Given the description of an element on the screen output the (x, y) to click on. 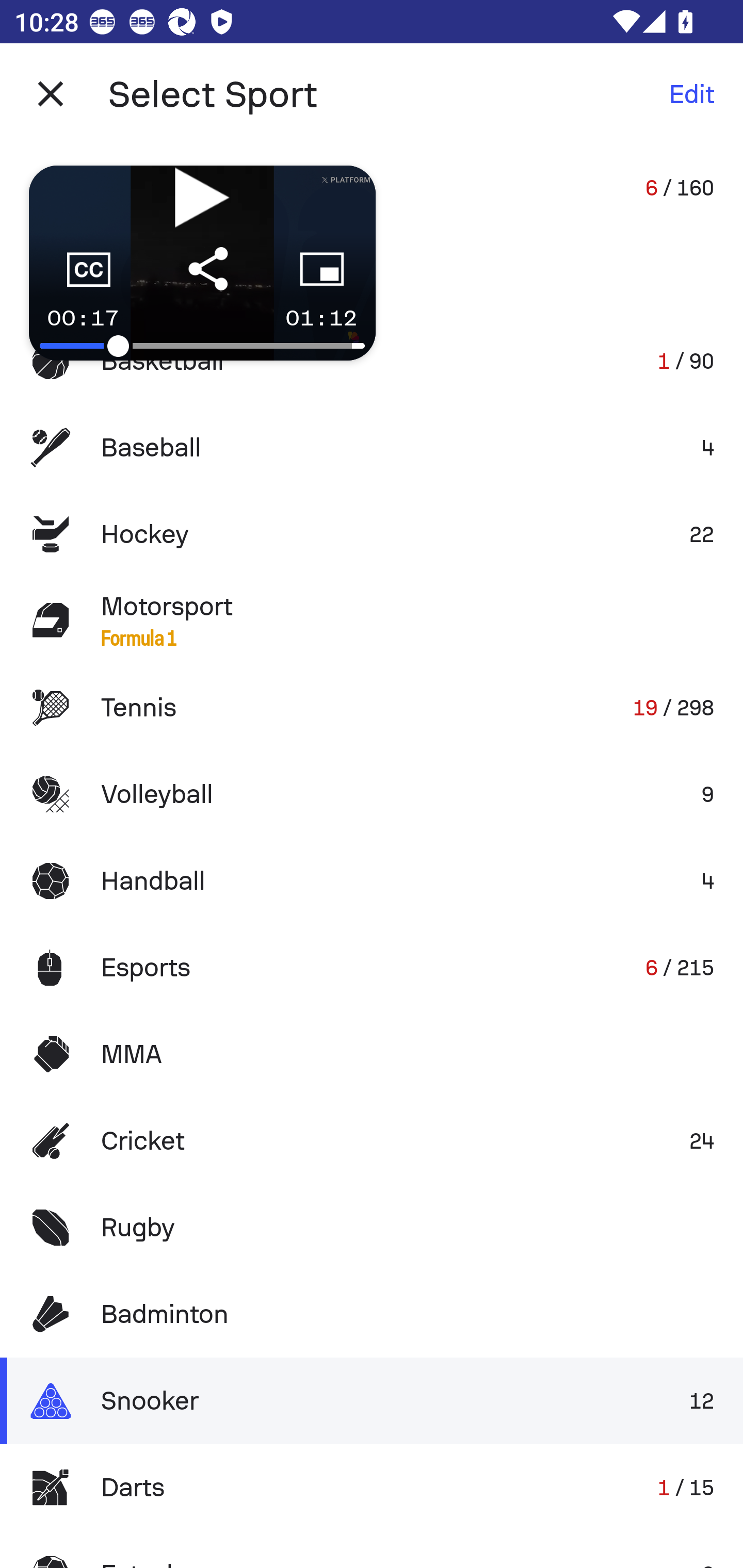
Edit (691, 93)
Baseball 4 (371, 447)
Hockey 22 (371, 533)
Motorsport Formula 1 (371, 620)
Tennis 19 / 298 (371, 707)
Volleyball 9 (371, 794)
Handball 4 (371, 880)
Esports 6 / 215 (371, 967)
MMA (371, 1054)
Cricket 24 (371, 1140)
Rugby (371, 1227)
Badminton (371, 1314)
Snooker 12 (371, 1400)
Darts 1 / 15 (371, 1487)
